Given the description of an element on the screen output the (x, y) to click on. 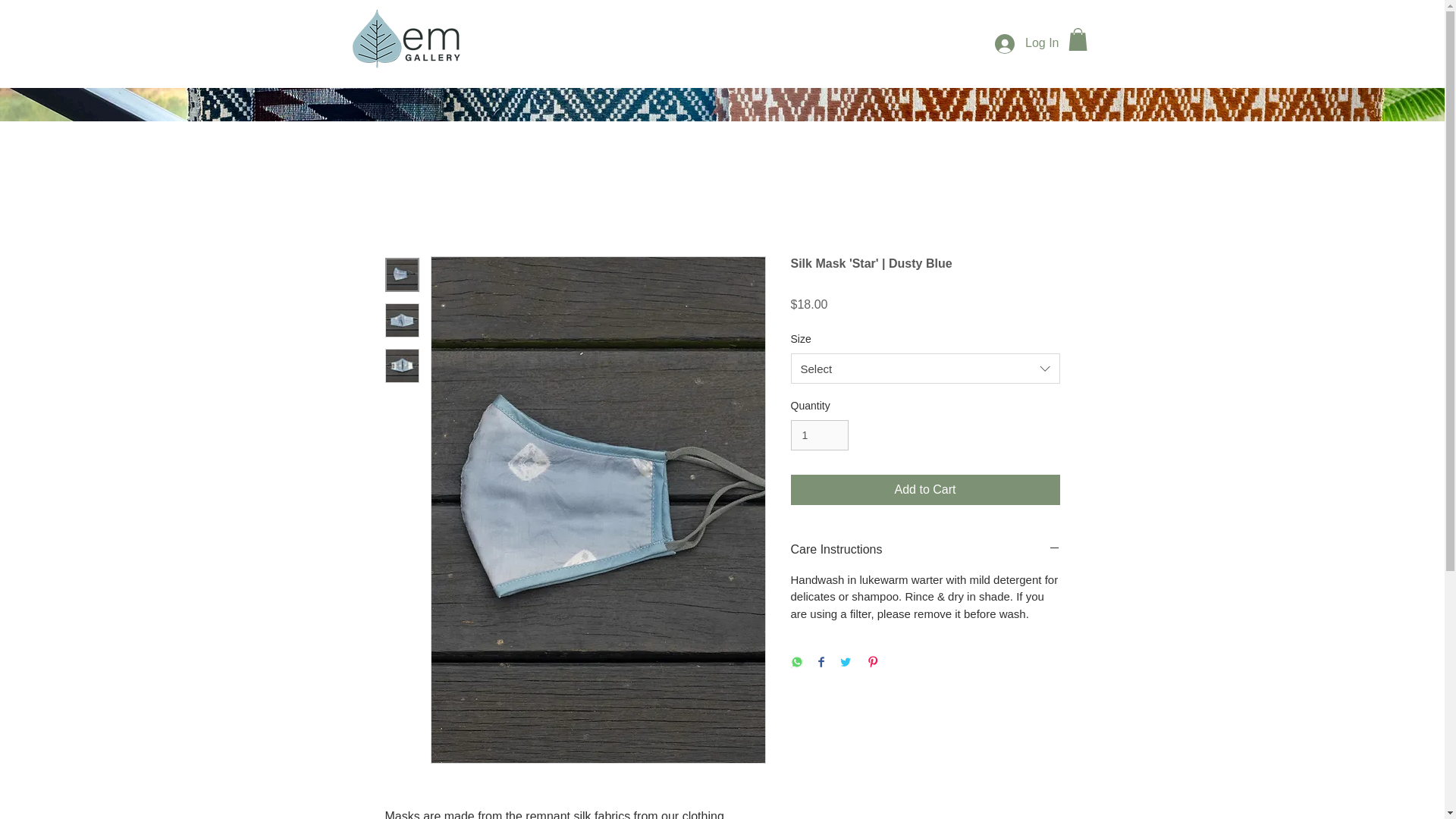
Log In (1026, 42)
1 (818, 435)
Care Instructions (924, 549)
Add to Cart (924, 490)
Select (924, 368)
